Given the description of an element on the screen output the (x, y) to click on. 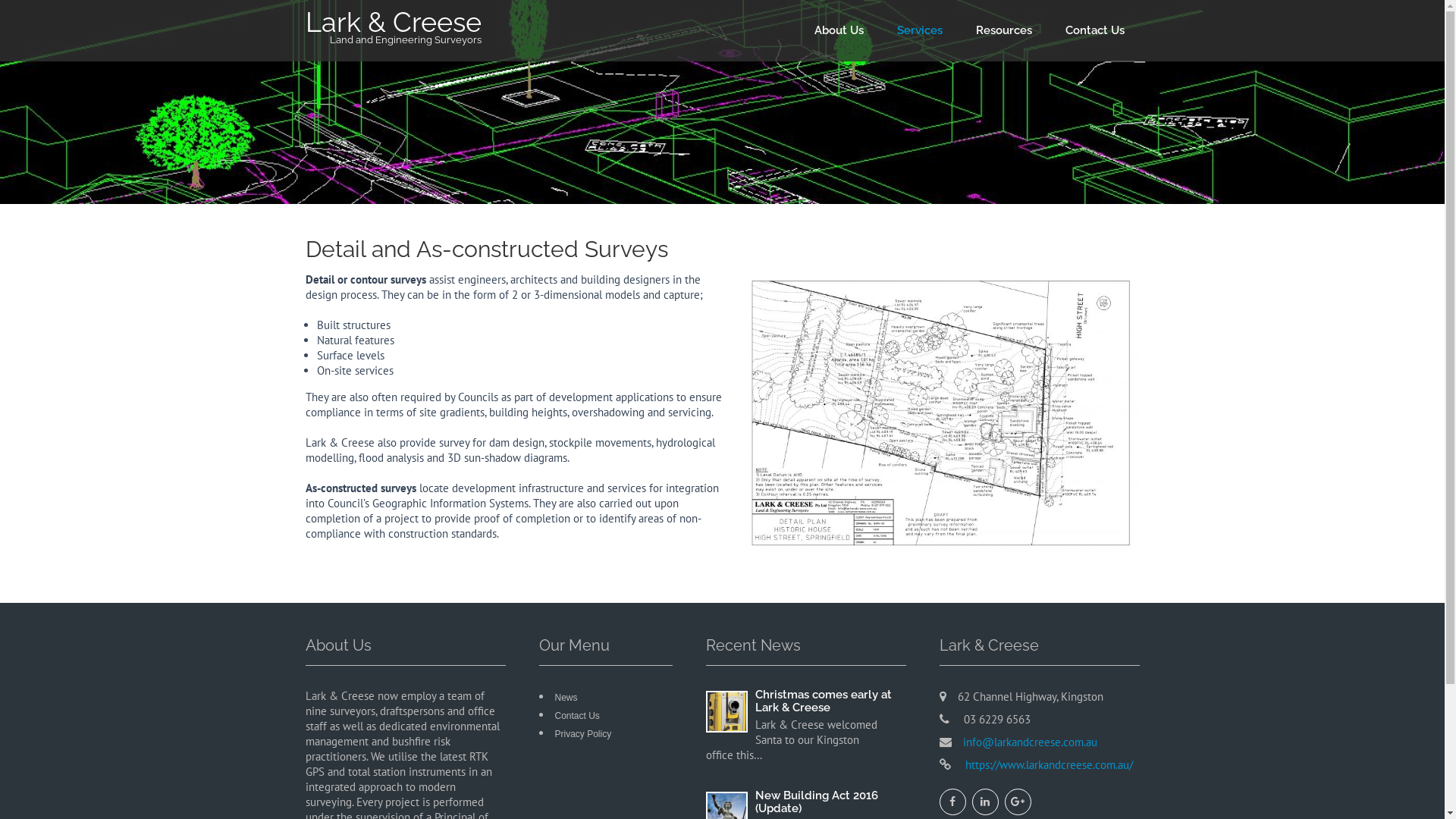
Contact Us Element type: text (577, 715)
News Element type: text (566, 697)
About Us Element type: text (838, 30)
Lark & Creese
Land and Engineering Surveyors Element type: text (392, 29)
Christmas comes early at Lark & Creese Element type: text (805, 700)
Services Element type: text (919, 30)
New Building Act 2016 (Update) Element type: text (805, 801)
google-plus Element type: hover (1017, 801)
info@larkandcreese.com.au Element type: text (1030, 741)
https://www.larkandcreese.com.au/ Element type: text (1046, 764)
Privacy Policy Element type: text (583, 733)
Resources Element type: text (1003, 30)
Contact Us Element type: text (1094, 30)
linkedin Element type: hover (985, 801)
facebook Element type: hover (951, 801)
